Given the description of an element on the screen output the (x, y) to click on. 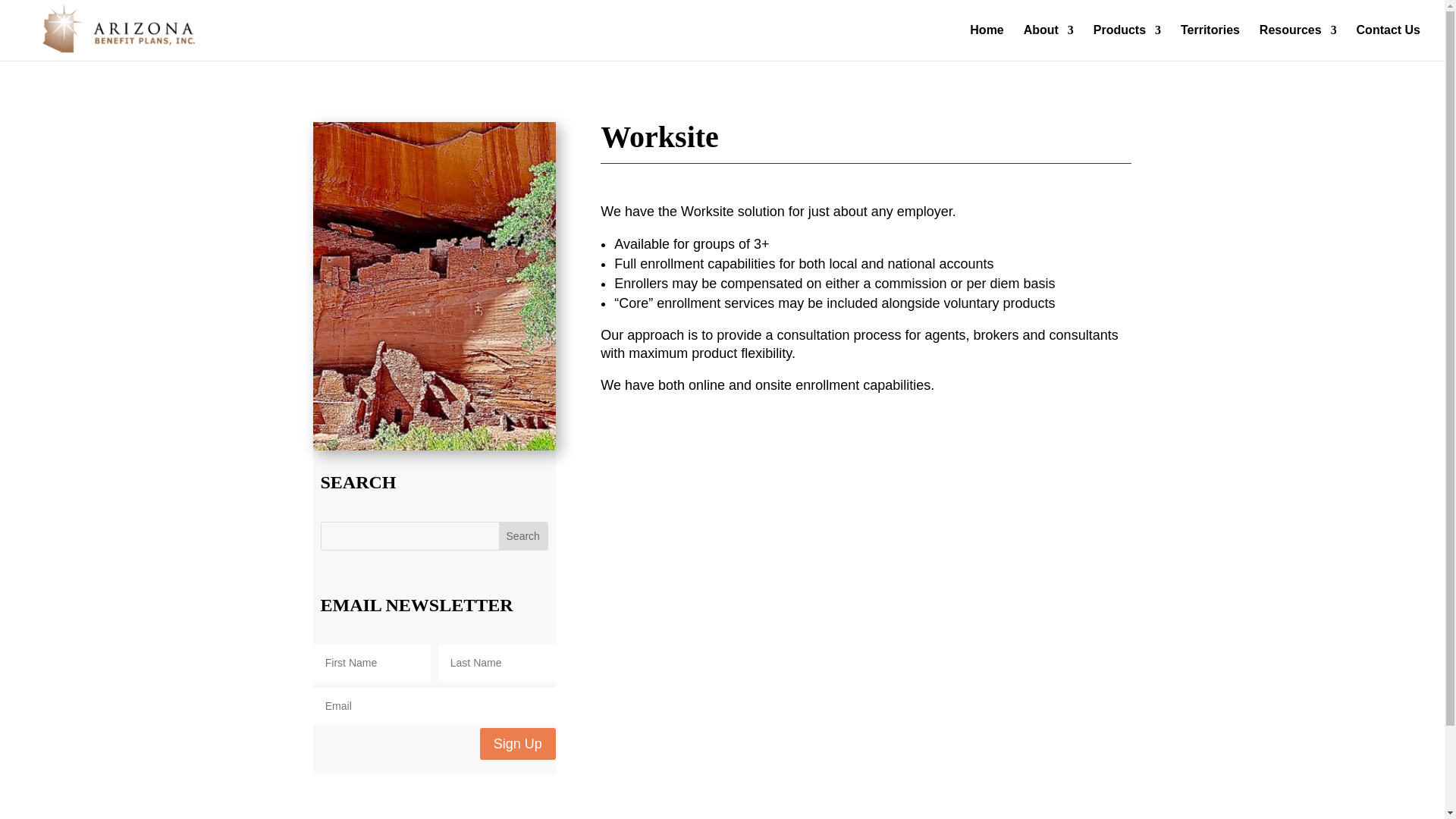
Search (523, 535)
Products (1126, 42)
Contact Us (1388, 42)
Search (523, 535)
Territories (1210, 42)
Home (986, 42)
Sign Up (518, 743)
About (1048, 42)
Search (523, 535)
Resources (1297, 42)
